Given the description of an element on the screen output the (x, y) to click on. 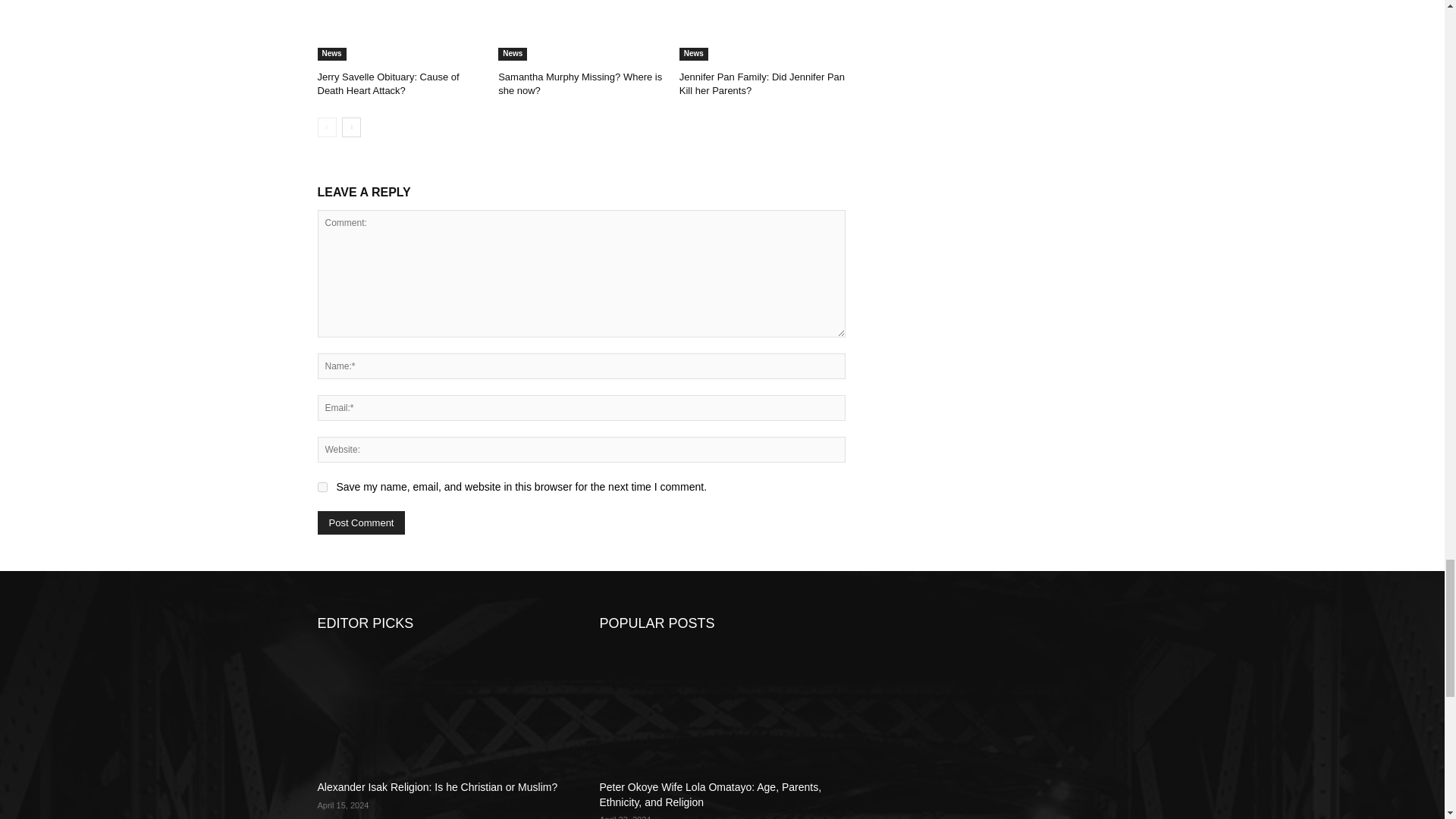
Post Comment (360, 522)
yes (321, 487)
